Given the description of an element on the screen output the (x, y) to click on. 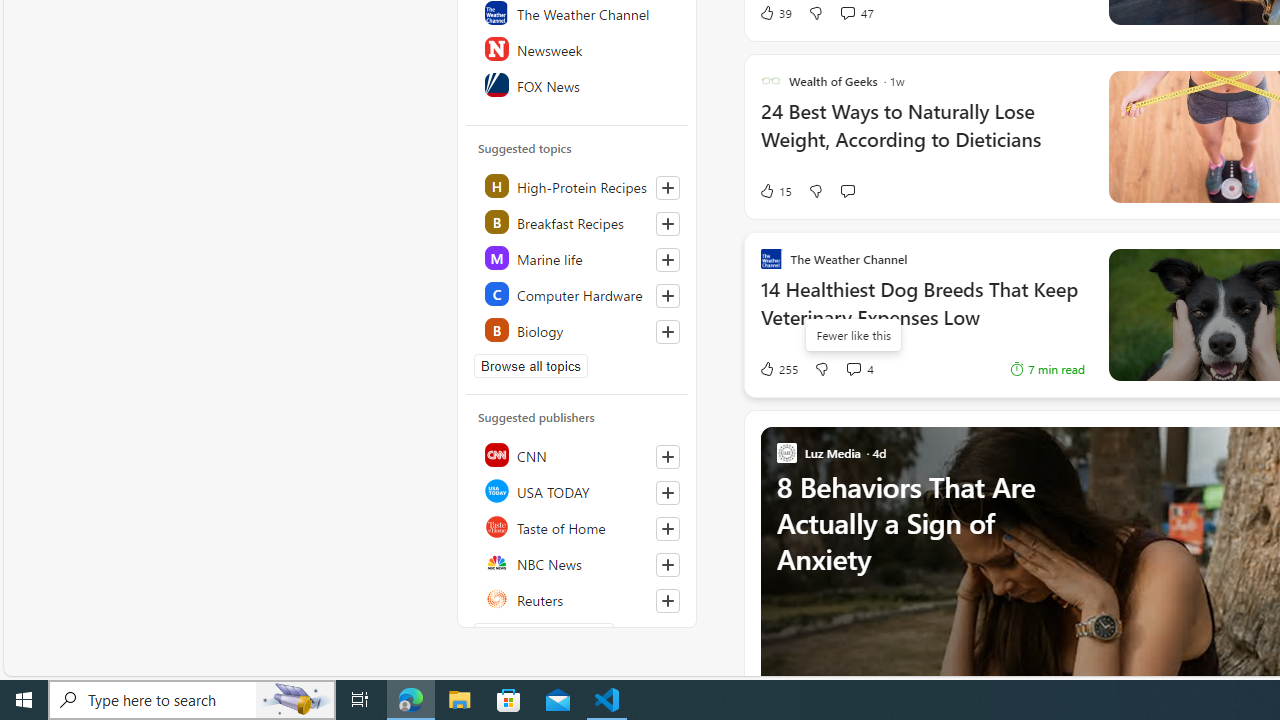
View comments 4 Comment (859, 368)
15 Like (775, 191)
Taste of Home (578, 526)
View comments 47 Comment (847, 12)
Follow this source (667, 600)
Reuters (578, 598)
View comments 47 Comment (855, 12)
USA TODAY (578, 490)
Browse all topics (530, 366)
39 Like (775, 12)
FOX News (578, 84)
Class: highlight (578, 329)
